Given the description of an element on the screen output the (x, y) to click on. 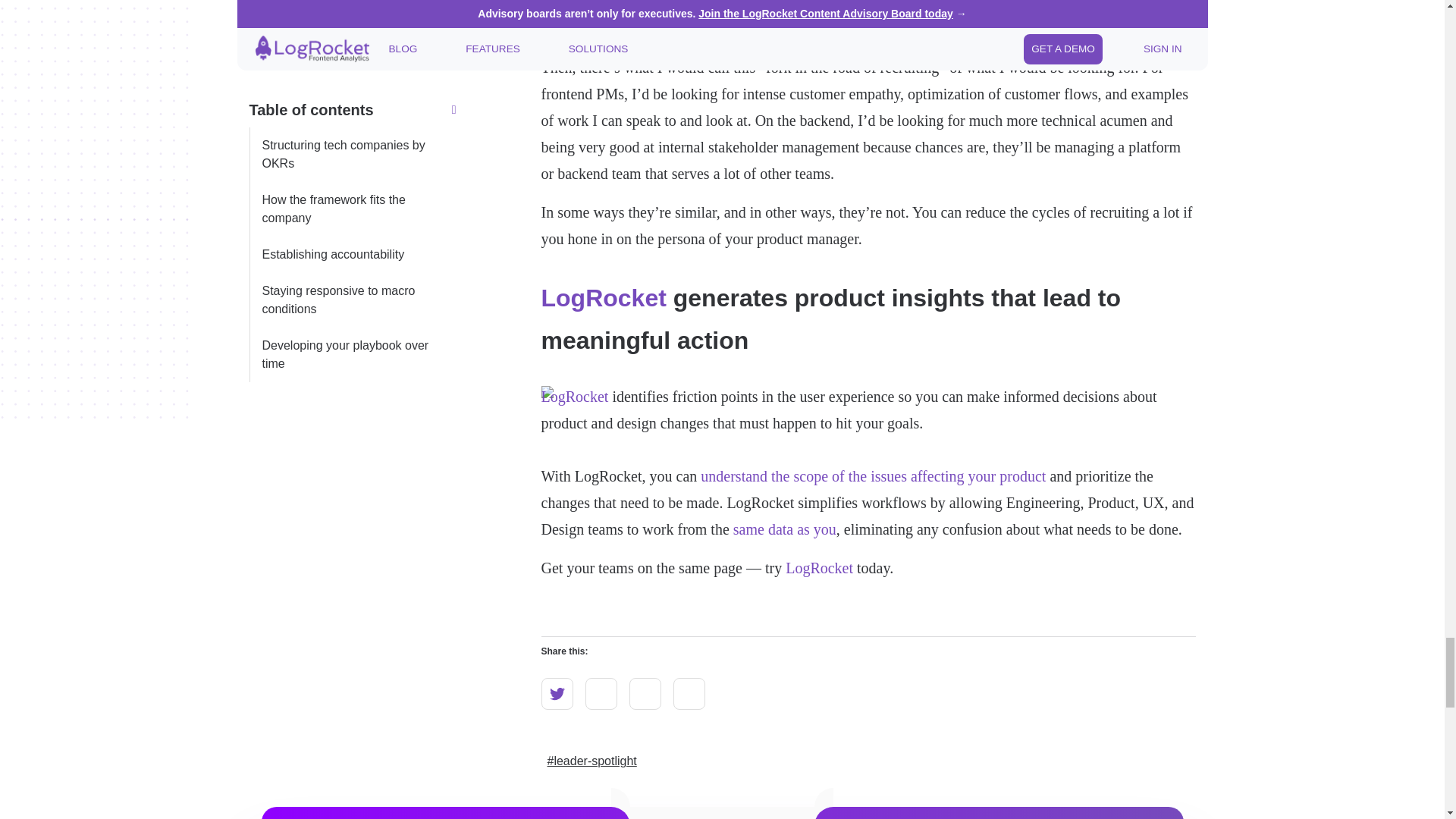
same data as you (784, 528)
Click to share on Facebook (688, 694)
Click to share on Twitter (557, 694)
LogRocket (574, 396)
Click to share on LinkedIn (644, 694)
Click to share on Reddit (601, 694)
LogRocket (603, 298)
understand the scope of the issues affecting your product (872, 475)
LogRocket (819, 567)
